Given the description of an element on the screen output the (x, y) to click on. 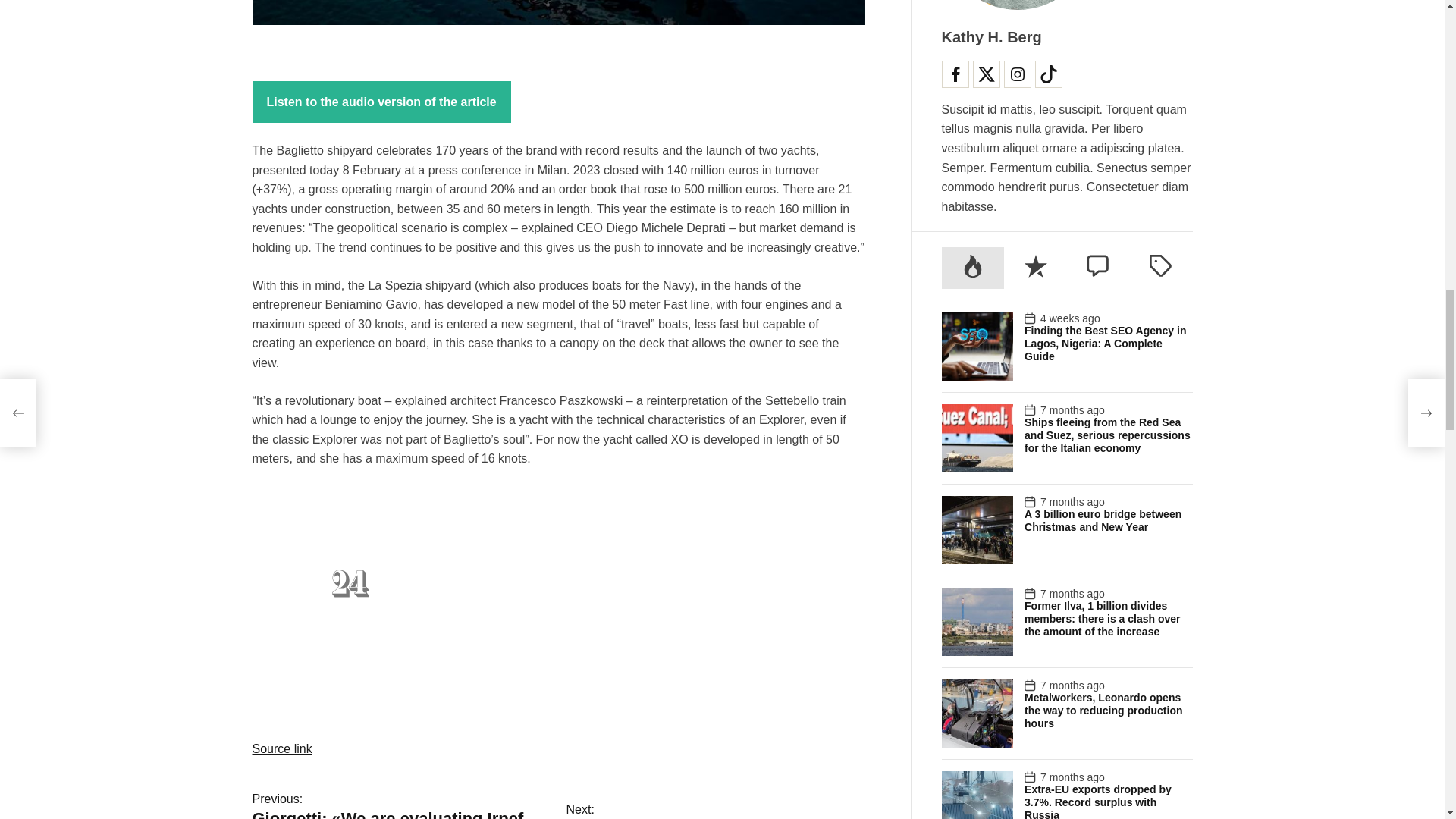
admin (325, 159)
admin (609, 169)
